Given the description of an element on the screen output the (x, y) to click on. 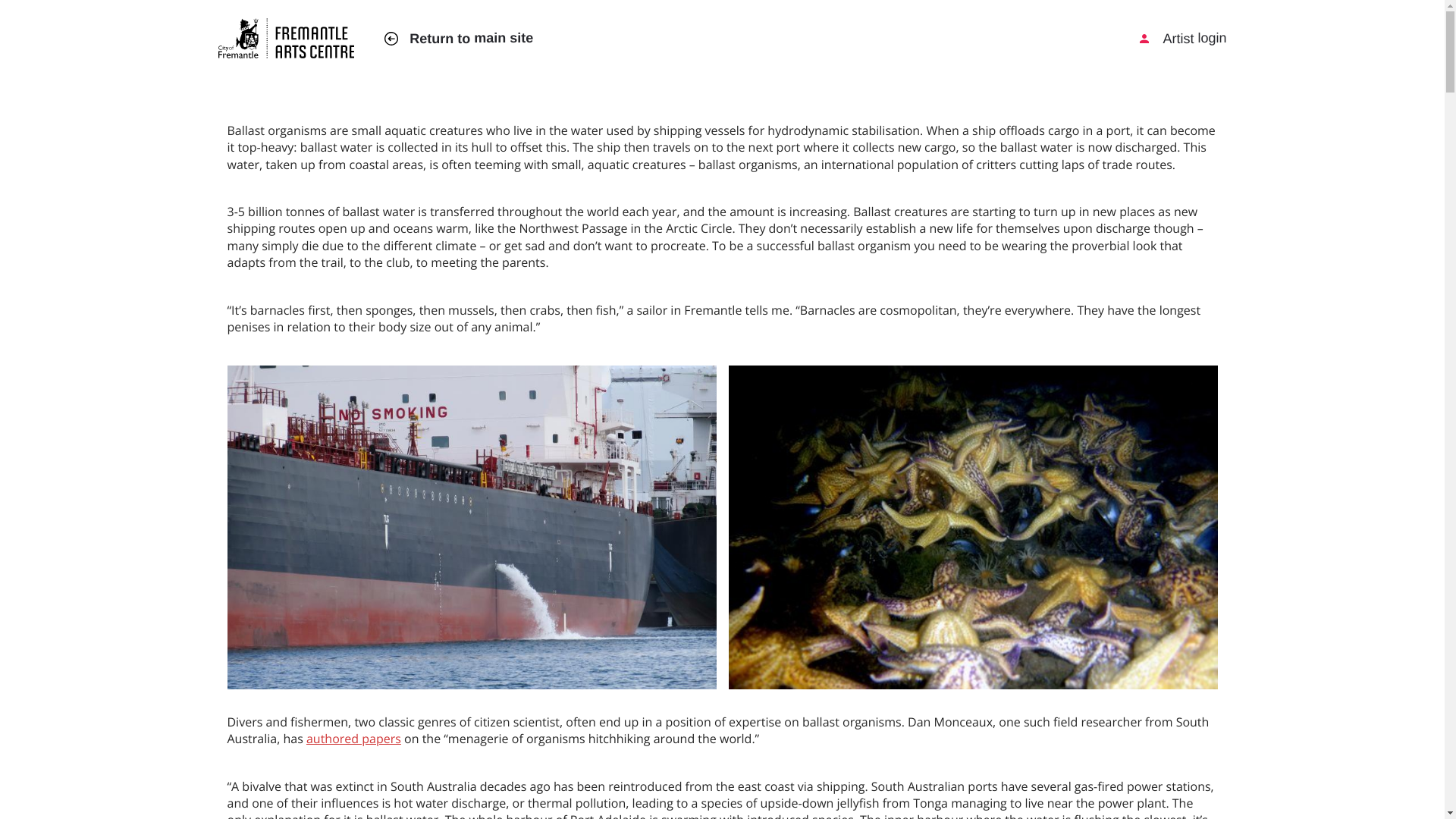
Return to main site Element type: text (458, 37)
authored papers Element type: text (353, 738)
Artist login Element type: text (1181, 37)
